Given the description of an element on the screen output the (x, y) to click on. 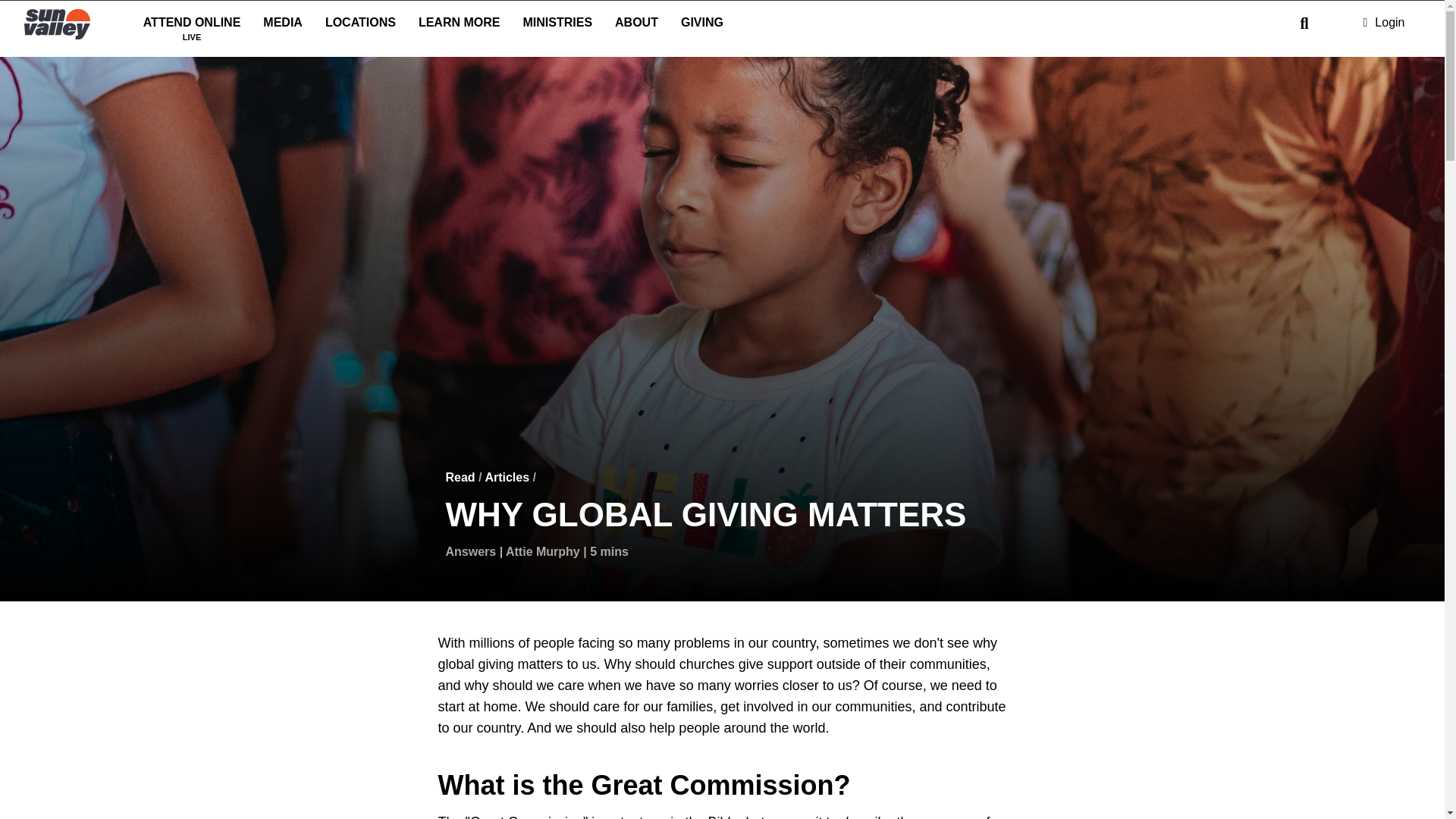
MEDIA (282, 25)
LOCATIONS (191, 25)
LEARN MORE (360, 25)
MINISTRIES (459, 25)
